Given the description of an element on the screen output the (x, y) to click on. 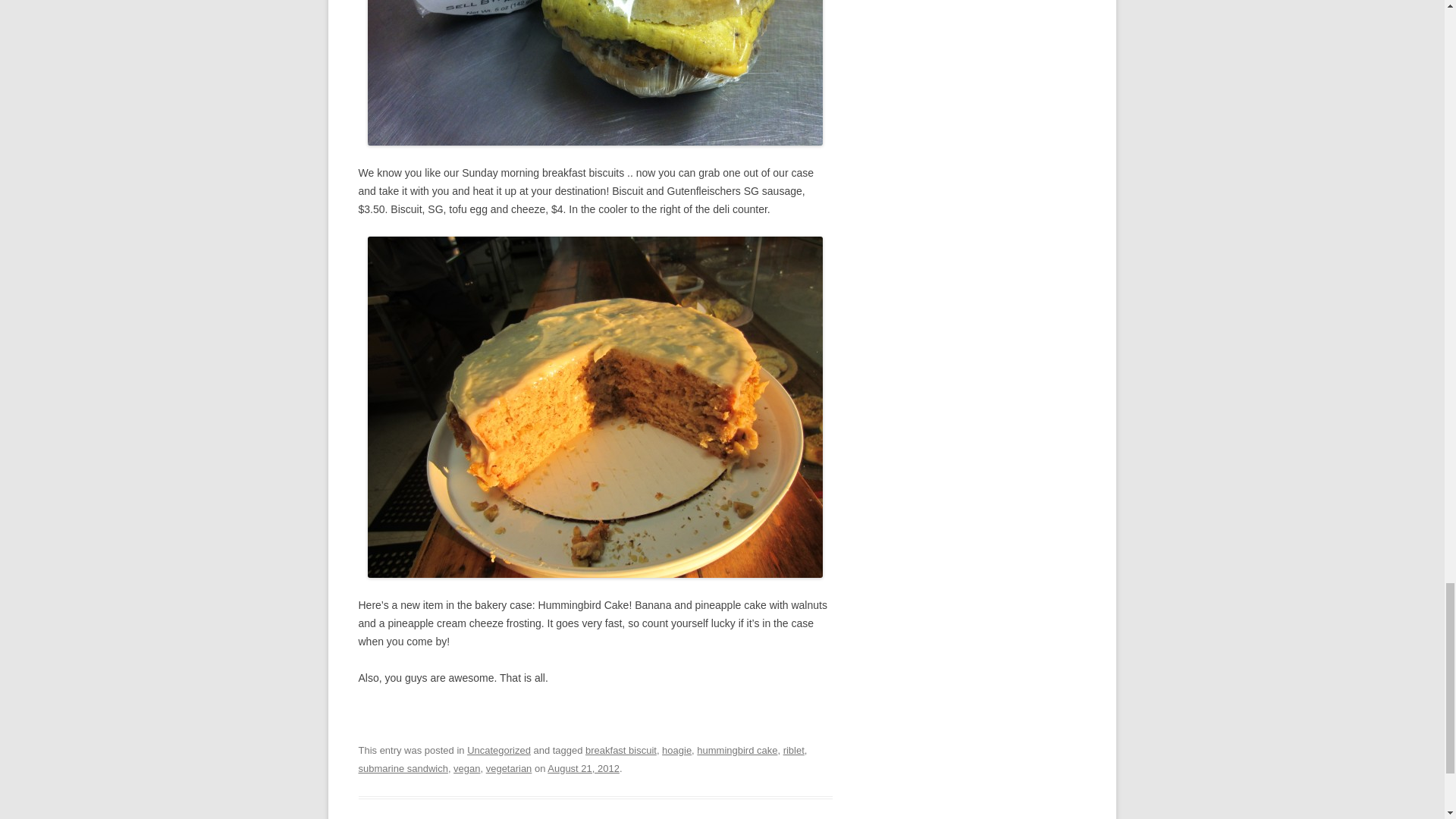
hoagie (676, 749)
vegetarian (509, 767)
7:53 am (583, 767)
hummingbird cake (737, 749)
breakfast biscuit (620, 749)
riblet (794, 749)
Uncategorized (499, 749)
vegan (466, 767)
submarine sandwich (402, 767)
breakfast biscuits (595, 72)
